Given the description of an element on the screen output the (x, y) to click on. 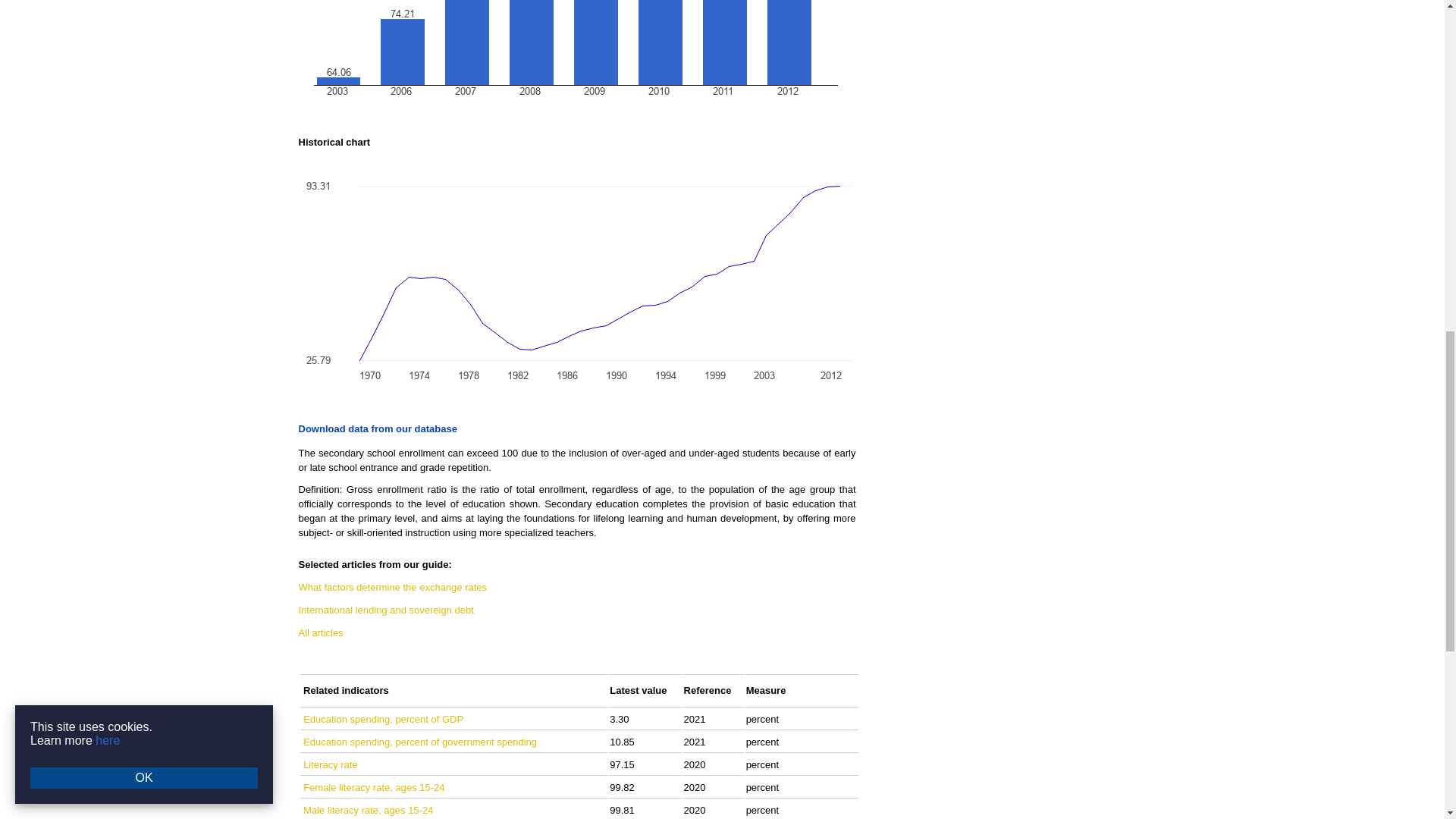
Download data from our database (377, 428)
What factors determine the exchange rates (392, 586)
